Given the description of an element on the screen output the (x, y) to click on. 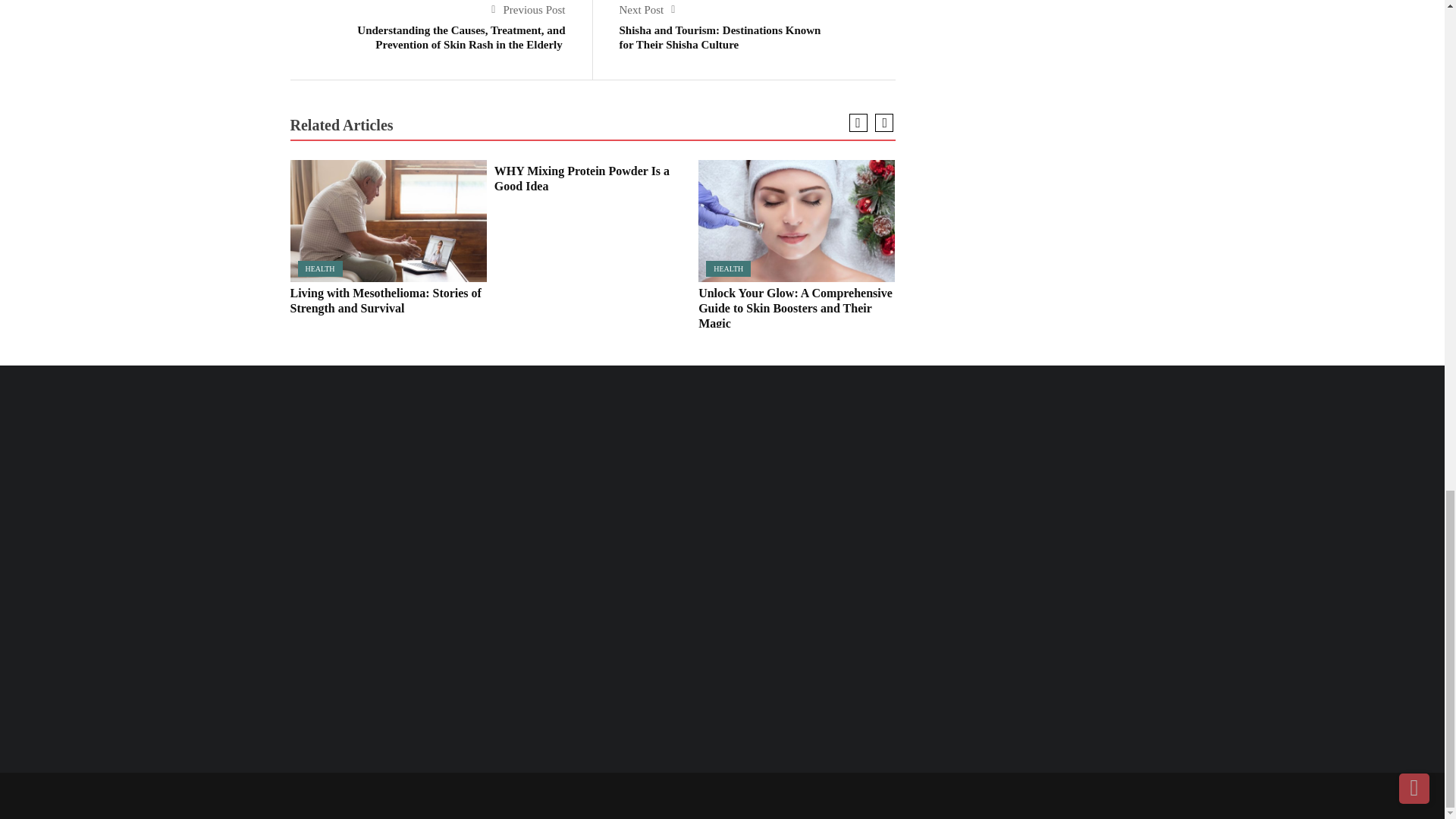
Previous Post (528, 9)
Living with Mesothelioma: Stories of Strength and Survival (387, 220)
